Given the description of an element on the screen output the (x, y) to click on. 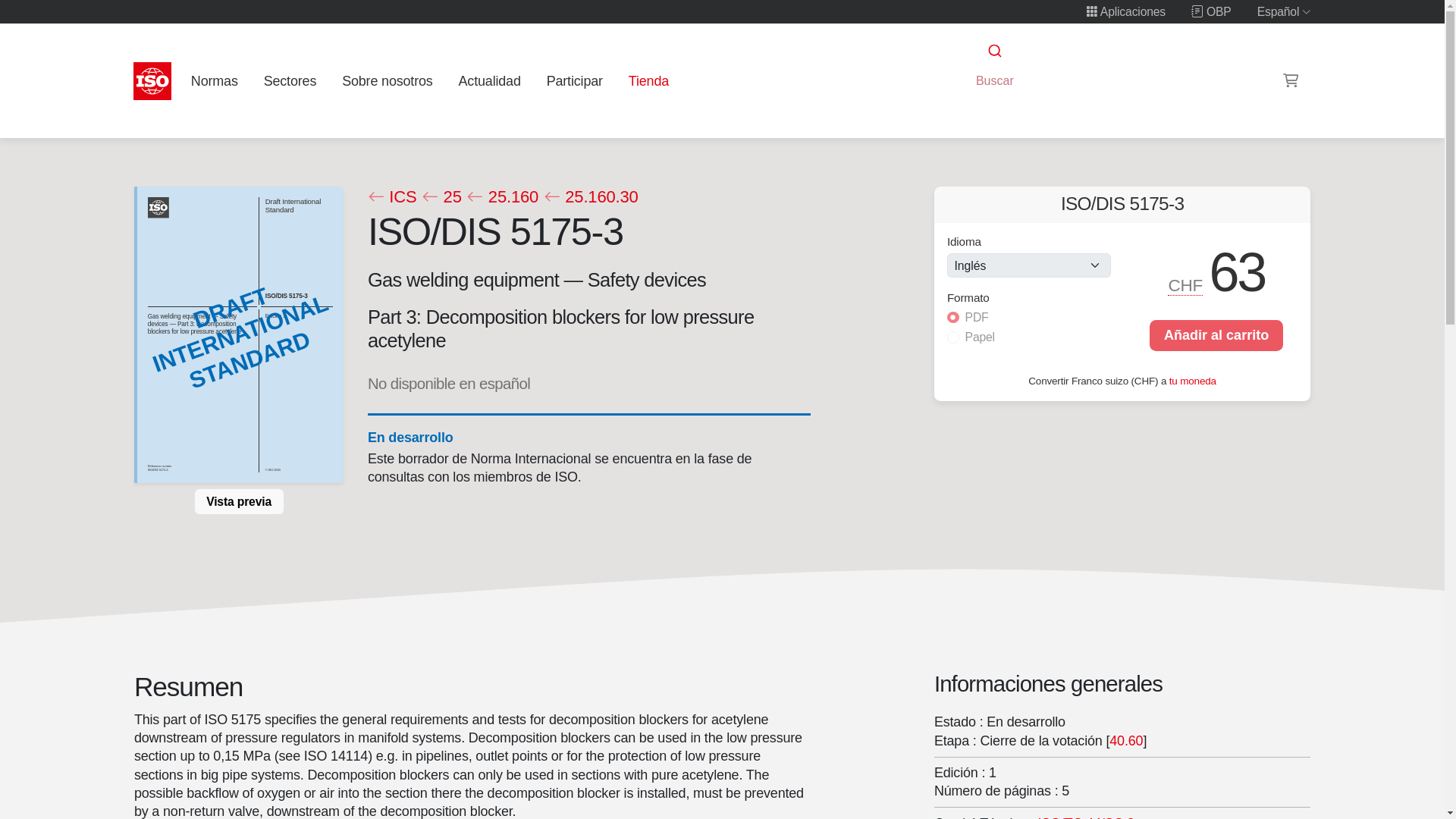
Normas (214, 80)
En desarrollo (409, 436)
Actualidad (489, 80)
25.160 (501, 197)
Ciclo de vida (409, 436)
40.60 (1125, 740)
Tienda (648, 80)
Participar (574, 80)
Carro de la compra (1290, 80)
Submit (993, 51)
25 (441, 197)
 OBP (1211, 11)
ICS (391, 197)
